Given the description of an element on the screen output the (x, y) to click on. 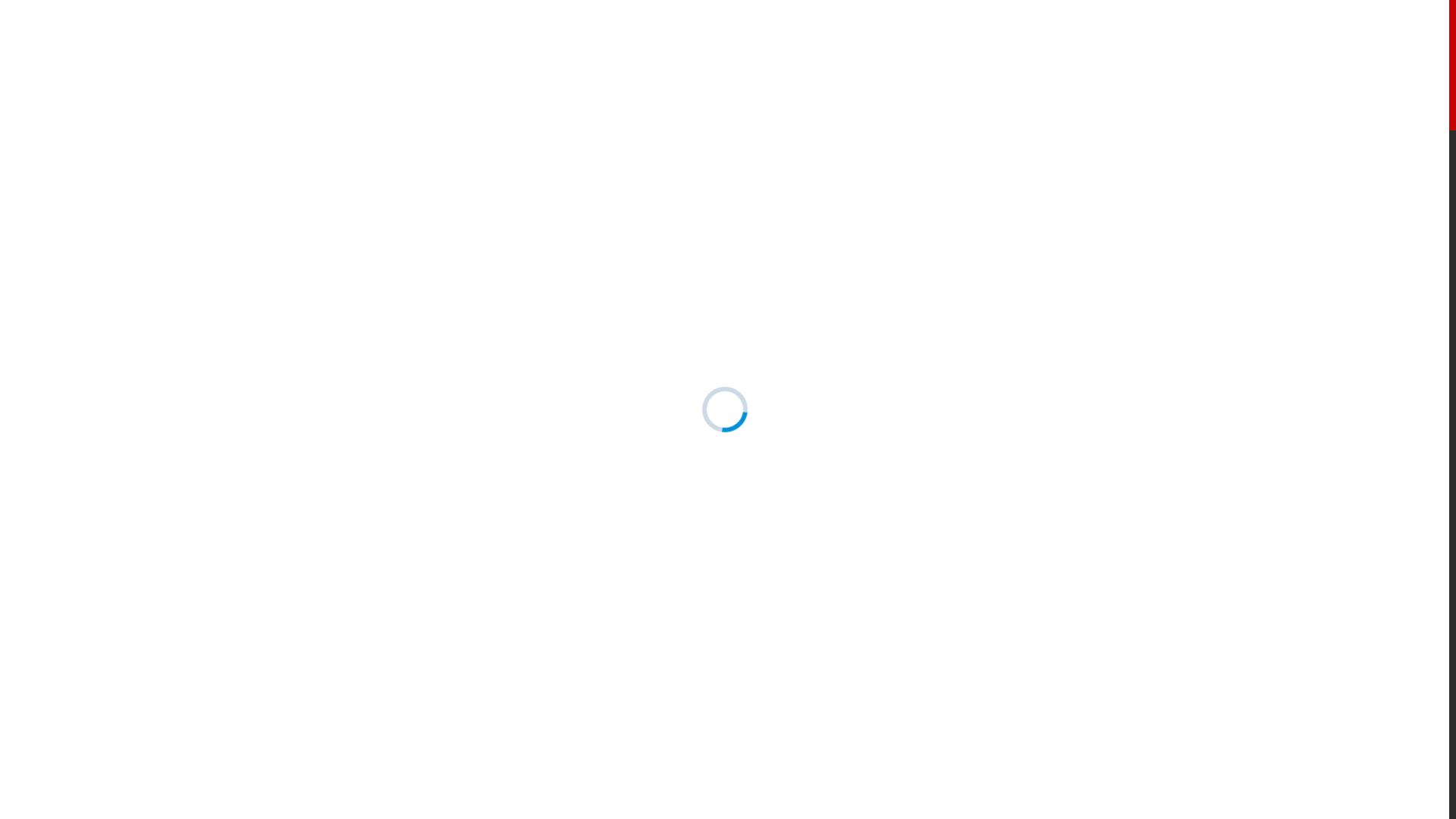
+375 (29) 8944459 Element type: text (1101, 69)
